Given the description of an element on the screen output the (x, y) to click on. 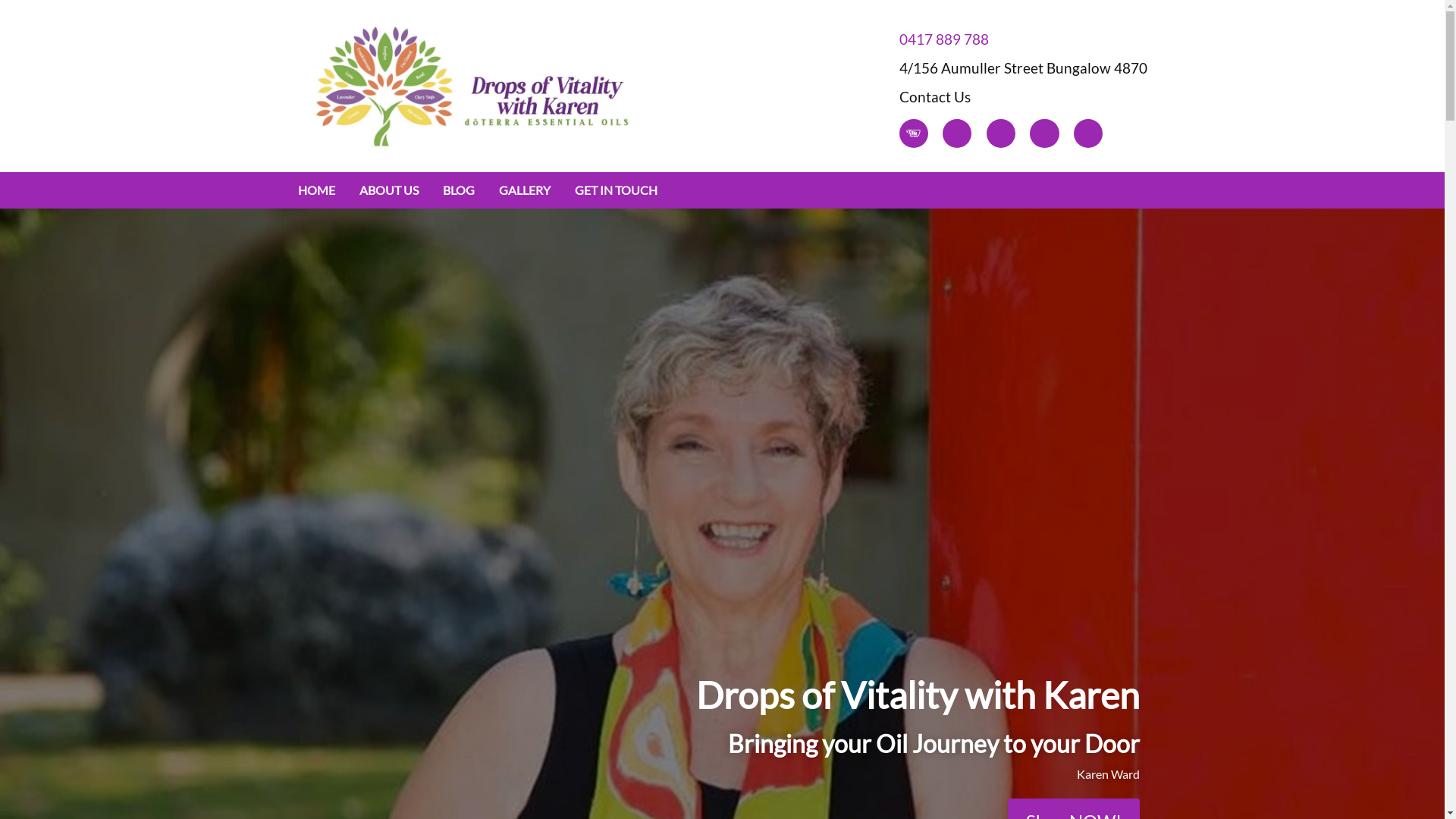
GALLERY Element type: text (524, 190)
Contact Us Element type: text (1023, 96)
GET IN TOUCH Element type: text (615, 190)
ABOUT US Element type: text (388, 190)
4/156 Aumuller Street Bungalow 4870 Element type: text (1023, 67)
BLOG Element type: text (458, 190)
0417 889 788 Element type: text (1023, 38)
HOME Element type: text (315, 190)
